Given the description of an element on the screen output the (x, y) to click on. 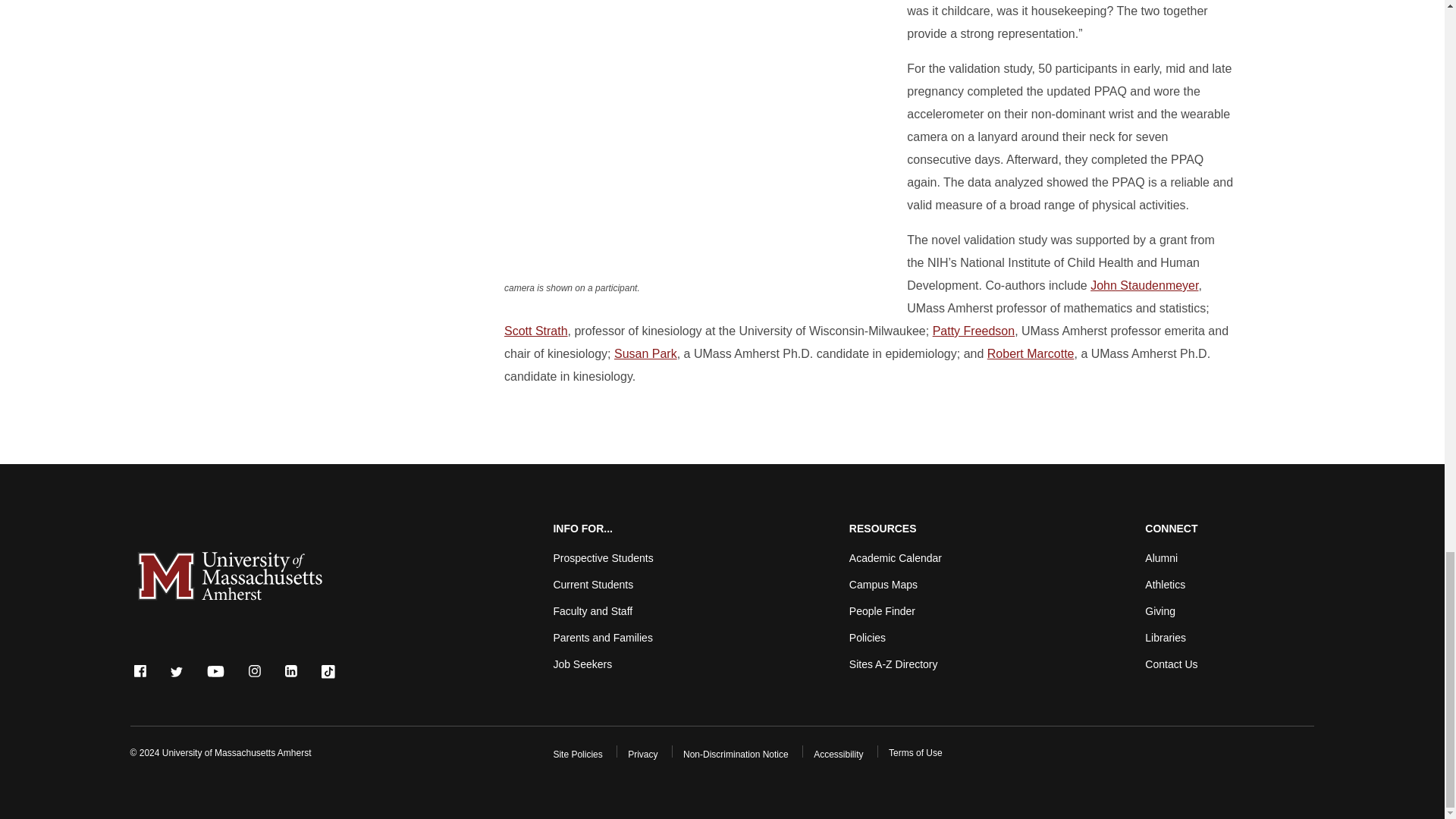
A-Z Directory (892, 664)
Click here for info for parents and families (602, 637)
UMass Amherst Accessibility Resources (838, 754)
Click here for info for faculty and staff (592, 611)
UMass Amherst non-discrimination policies (735, 754)
Info for Job Seekers (582, 664)
Click here for info for current students (593, 584)
UMass Amherst privacy policy (642, 754)
